Given the description of an element on the screen output the (x, y) to click on. 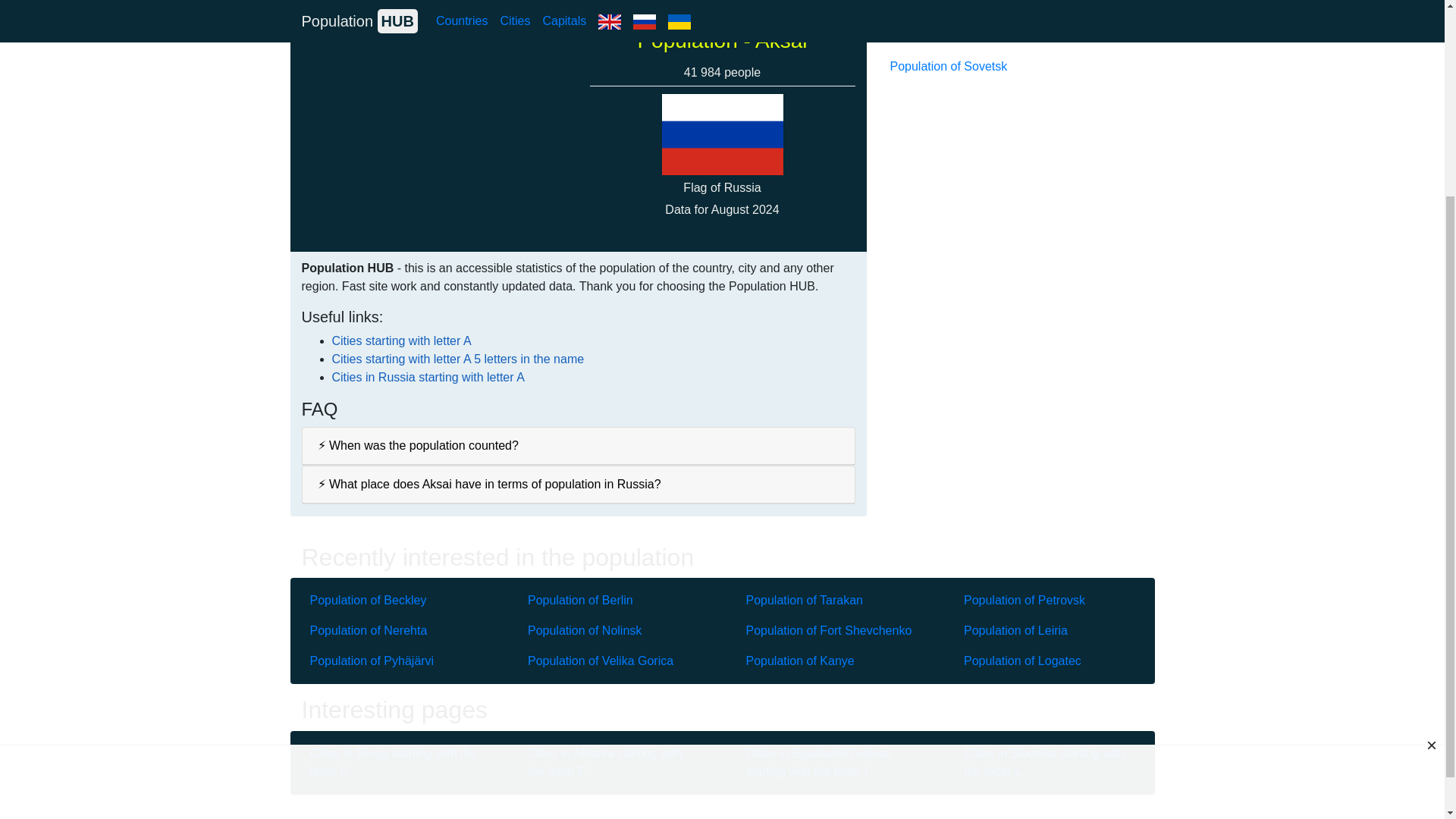
Population of Kashira (1009, 10)
Advertisement (1009, 187)
Population of Tarakan (831, 600)
Cities starting with letter A (401, 340)
Population of Petrovsk (1049, 600)
Cities in Russia starting with letter A (427, 377)
Population of Fort Shevchenko (831, 630)
Population of Beckley (395, 600)
Cities in Equatorial Guinea starting with the letter I (831, 762)
Advertisement (721, 518)
Population of Berlin (613, 600)
Population of Nolinsk (613, 630)
Population of Zainsk (1009, 36)
Population of Kanye (831, 661)
Cities in Tonga starting with the letter C (395, 762)
